Given the description of an element on the screen output the (x, y) to click on. 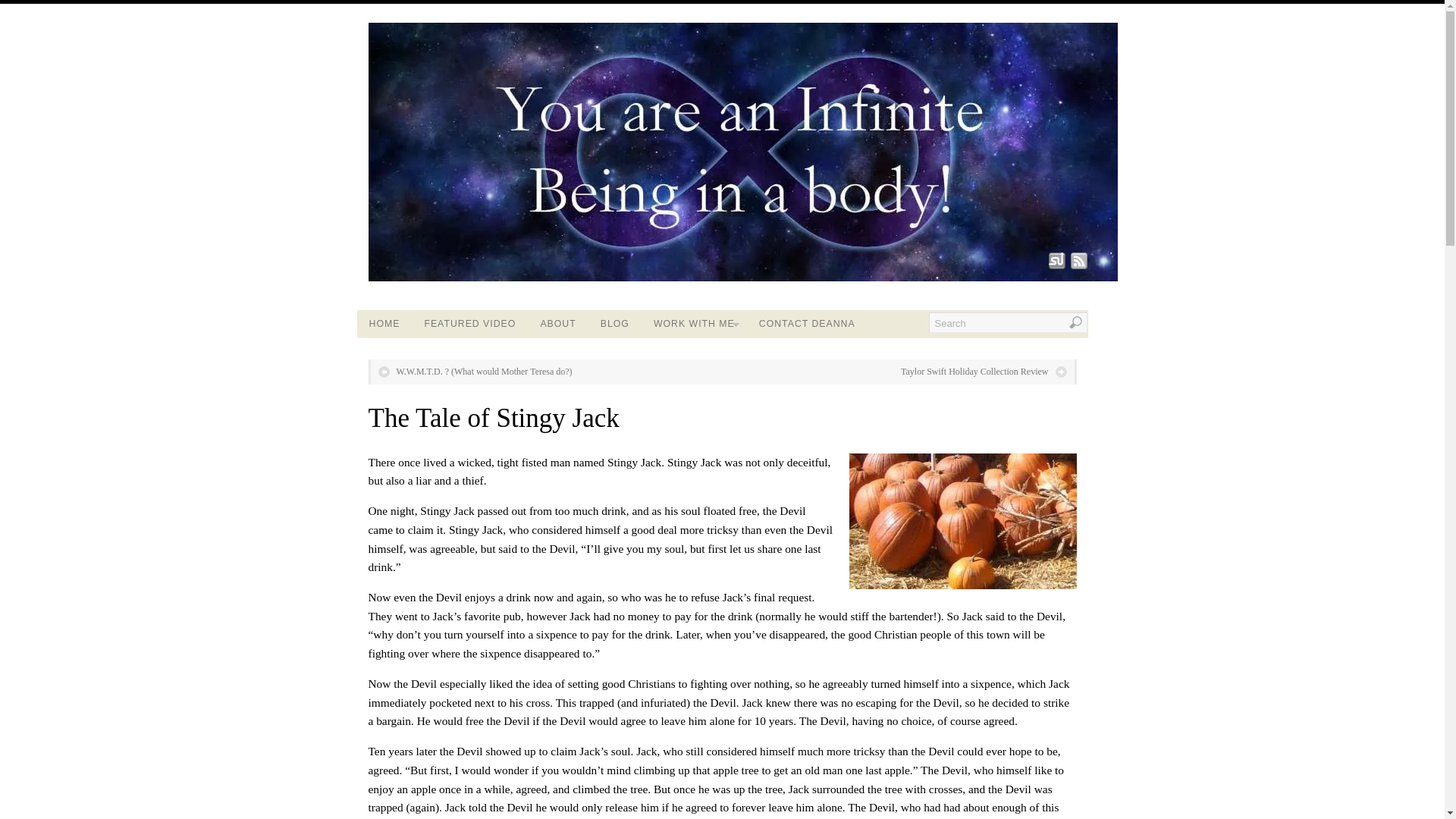
Search (1007, 322)
pumpkins (962, 520)
CONTACT DEANNA (806, 323)
ABOUT (557, 323)
Search (1007, 322)
Taylor Swift Holiday Collection Review (983, 371)
FEATURED VIDEO (469, 323)
Deanna Leigh Joseph (743, 277)
BLOG (615, 323)
WORK WITH ME (694, 323)
HOME (384, 323)
